Given the description of an element on the screen output the (x, y) to click on. 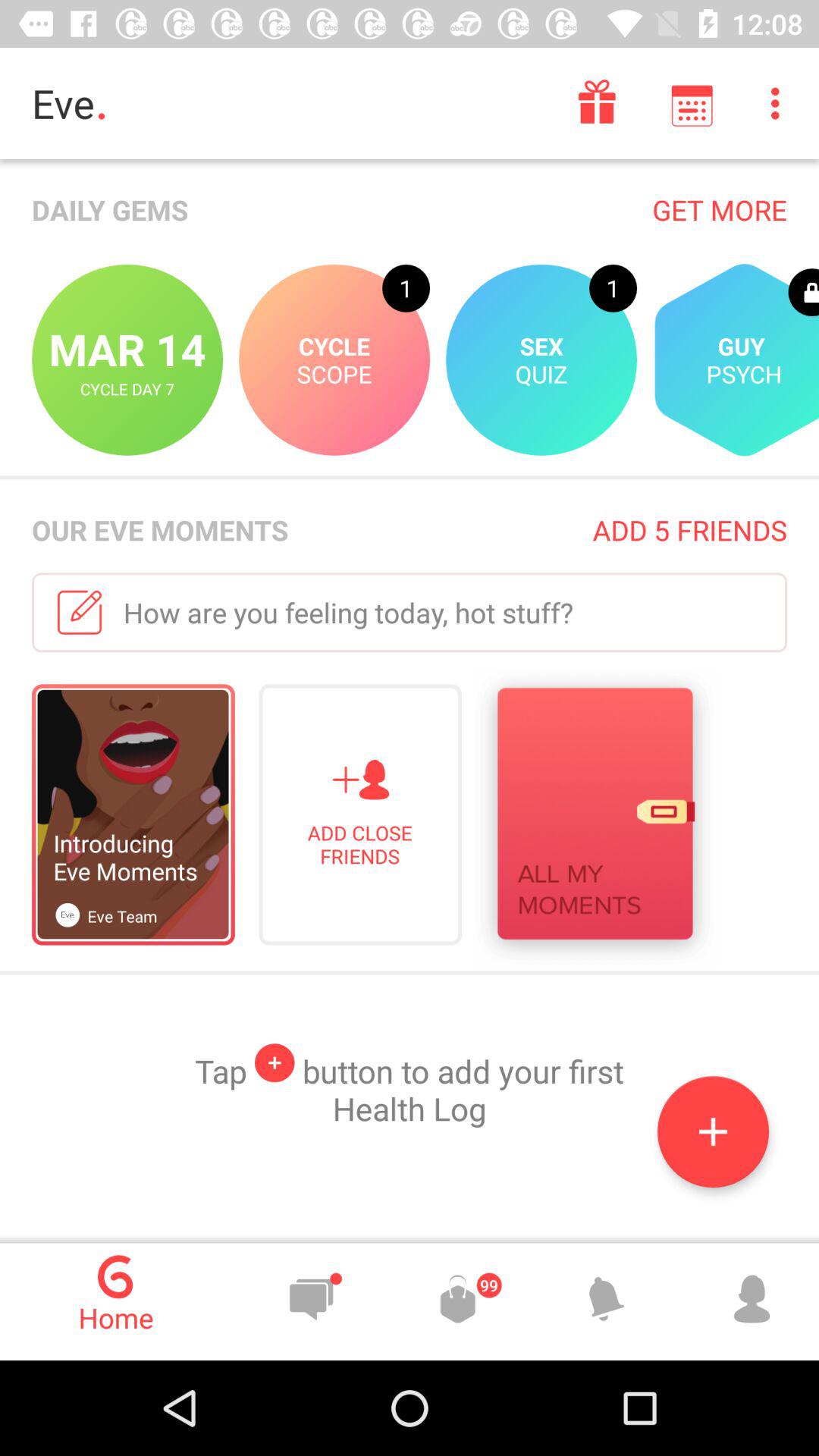
press item next to the add close
friends icon (594, 817)
